Given the description of an element on the screen output the (x, y) to click on. 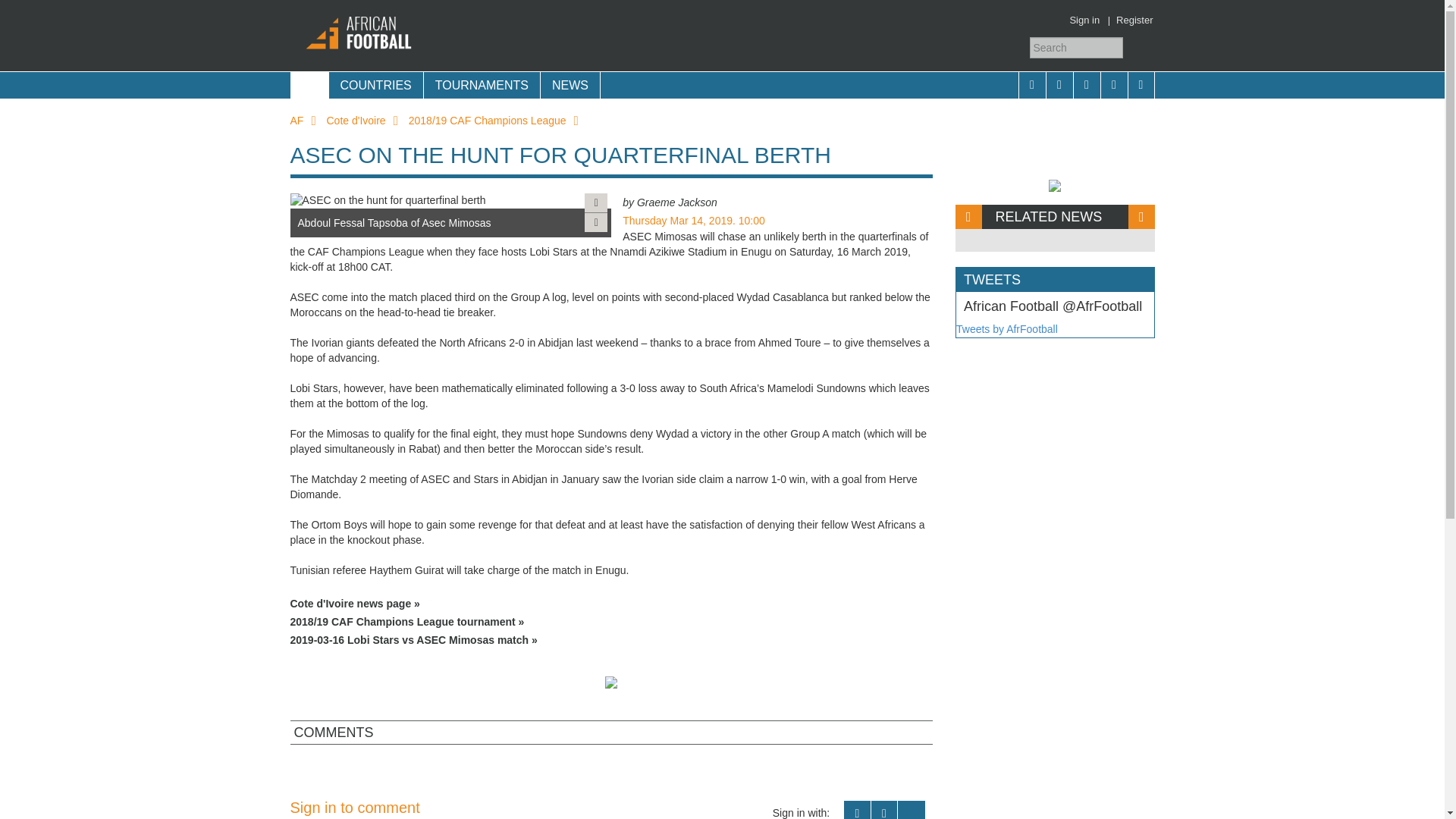
Register (1134, 19)
TOURNAMENTS (481, 85)
COUNTRIES (374, 85)
2019-03-16 Lobi Stars  vs ASEC Mimosas match (611, 640)
Sign in (1083, 19)
NEWS (569, 85)
Sign in with your Facebook details (856, 809)
Cote d (611, 603)
Sign in with your Twitter details (884, 809)
